Given the description of an element on the screen output the (x, y) to click on. 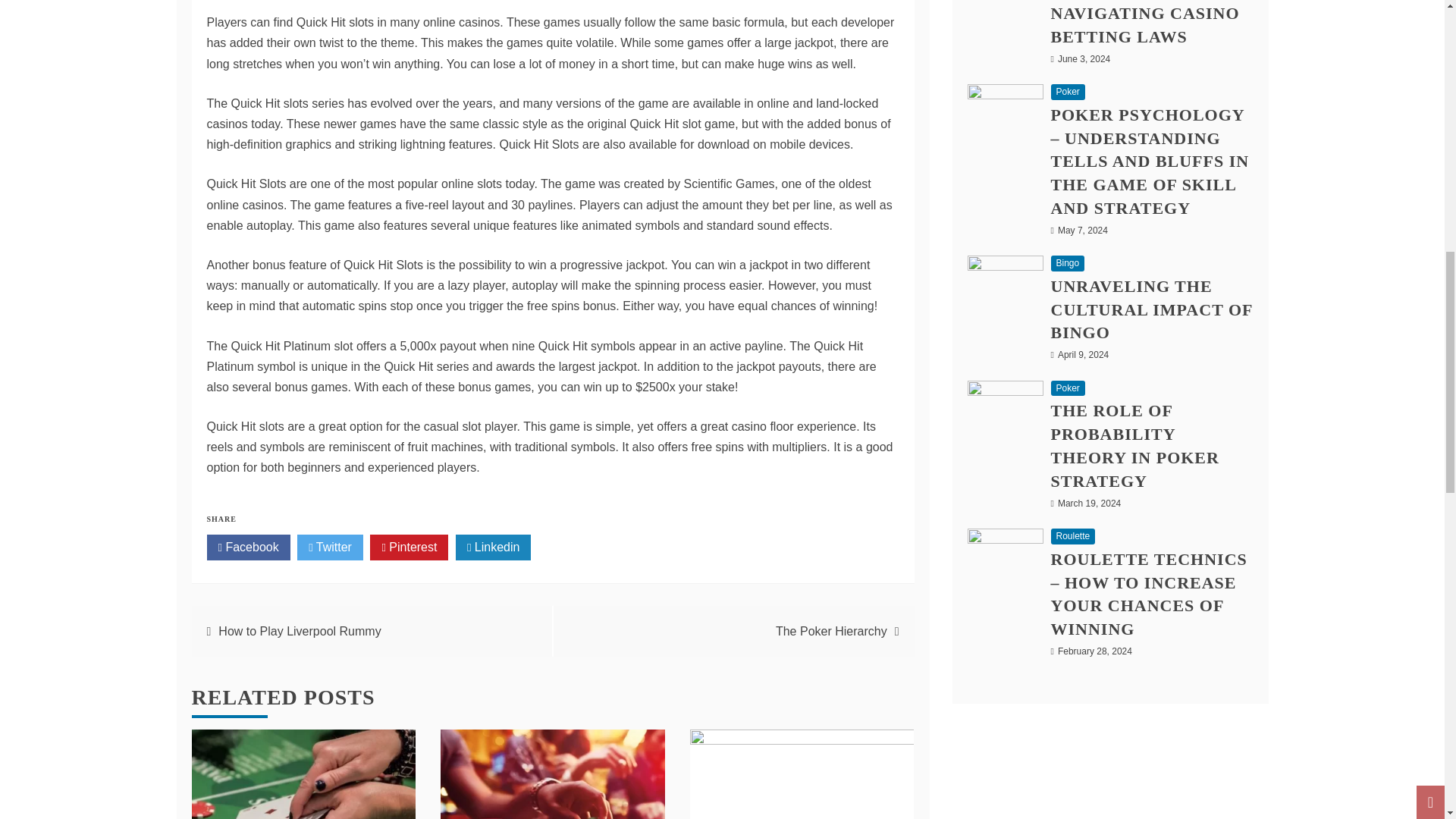
Linkedin (493, 547)
Facebook (247, 547)
How to Play Liverpool Rummy (299, 631)
Pinterest (408, 547)
Twitter (329, 547)
The Poker Hierarchy (831, 631)
